Given the description of an element on the screen output the (x, y) to click on. 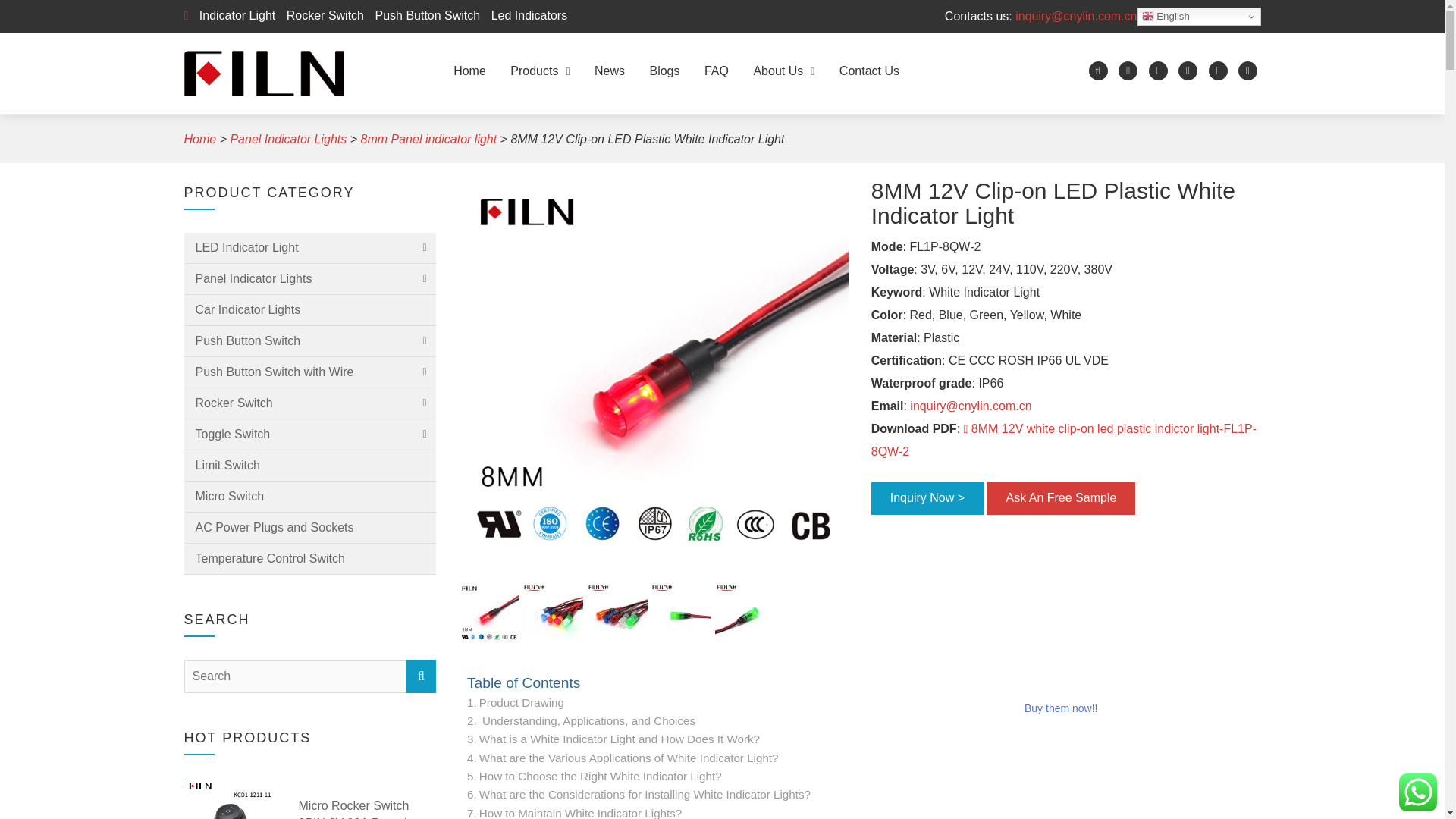
Go to the Panel Indicator Lights category archives. (288, 138)
Rocker Switch (321, 15)
Go to indicatorlight. (199, 138)
Micro Rocker Switch 3PIN 6V 20A Round Electrical (366, 808)
Indicator Light (234, 15)
Push Button Switch (423, 15)
Led Indicators (525, 15)
Go to the 8mm Panel indicator light category archives. (429, 138)
